Given the description of an element on the screen output the (x, y) to click on. 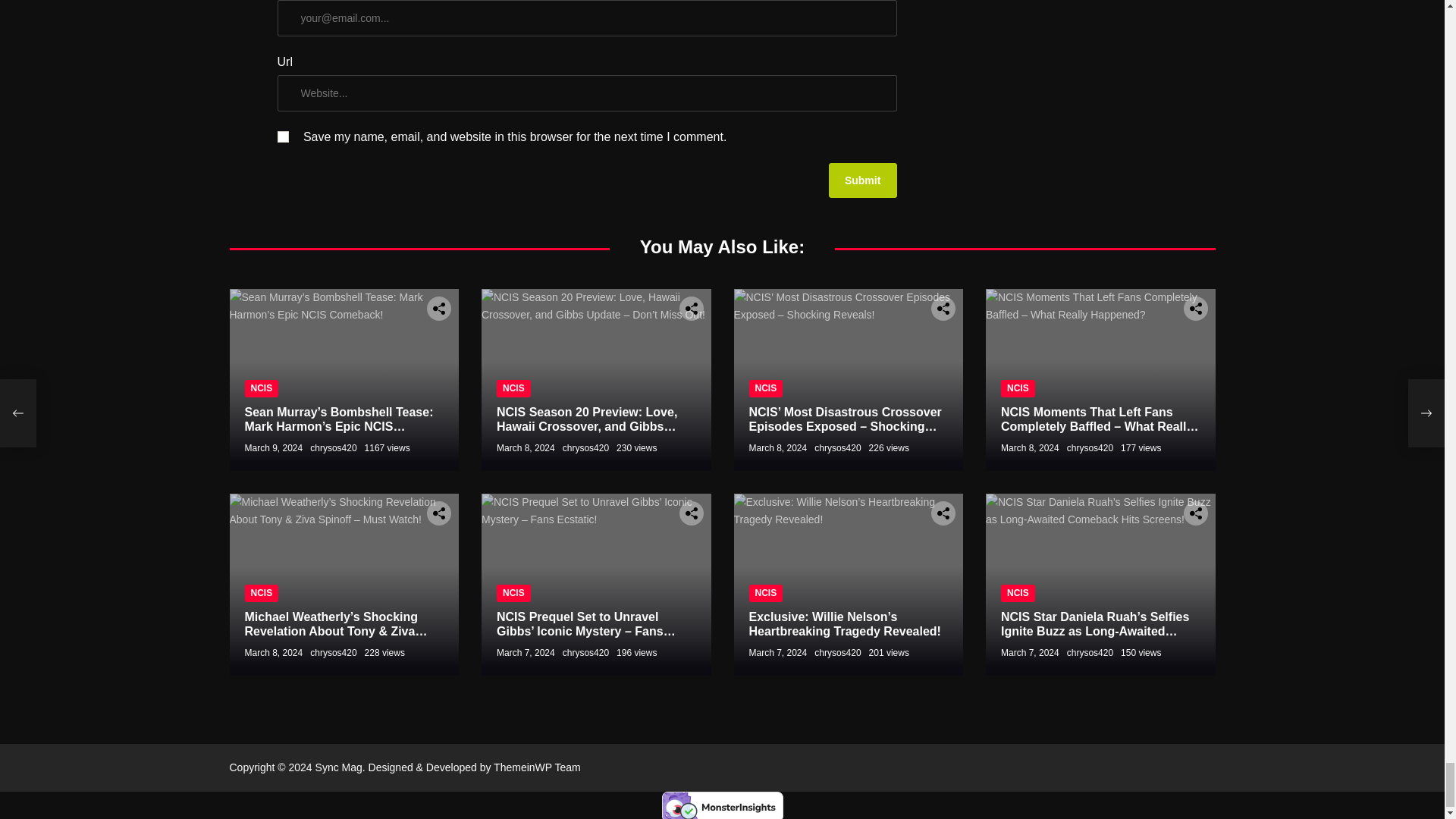
yes (283, 136)
Submit (862, 180)
